Given the description of an element on the screen output the (x, y) to click on. 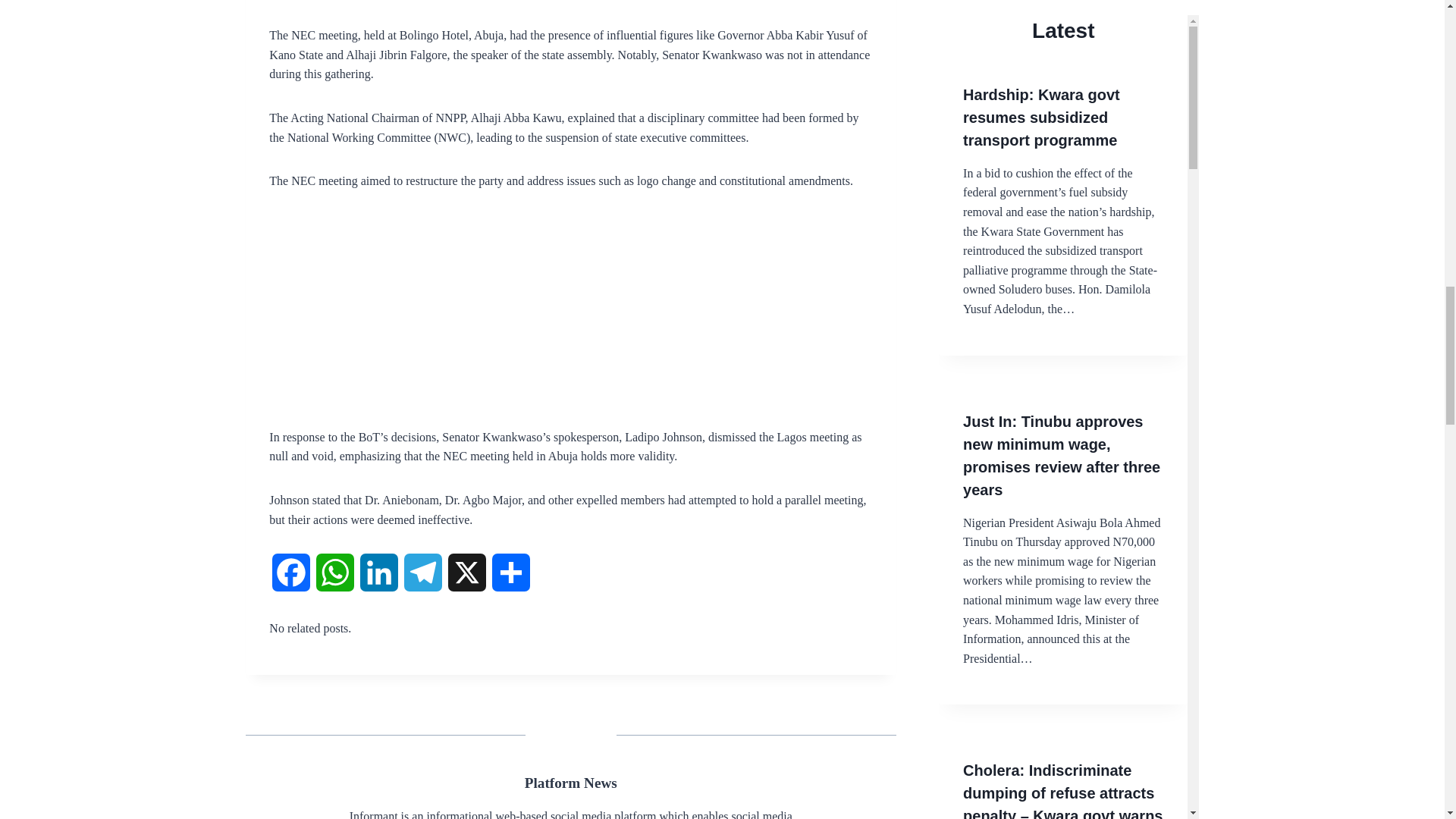
Advertisement (570, 321)
Posts by Platform News (570, 782)
Platform News (570, 782)
